Given the description of an element on the screen output the (x, y) to click on. 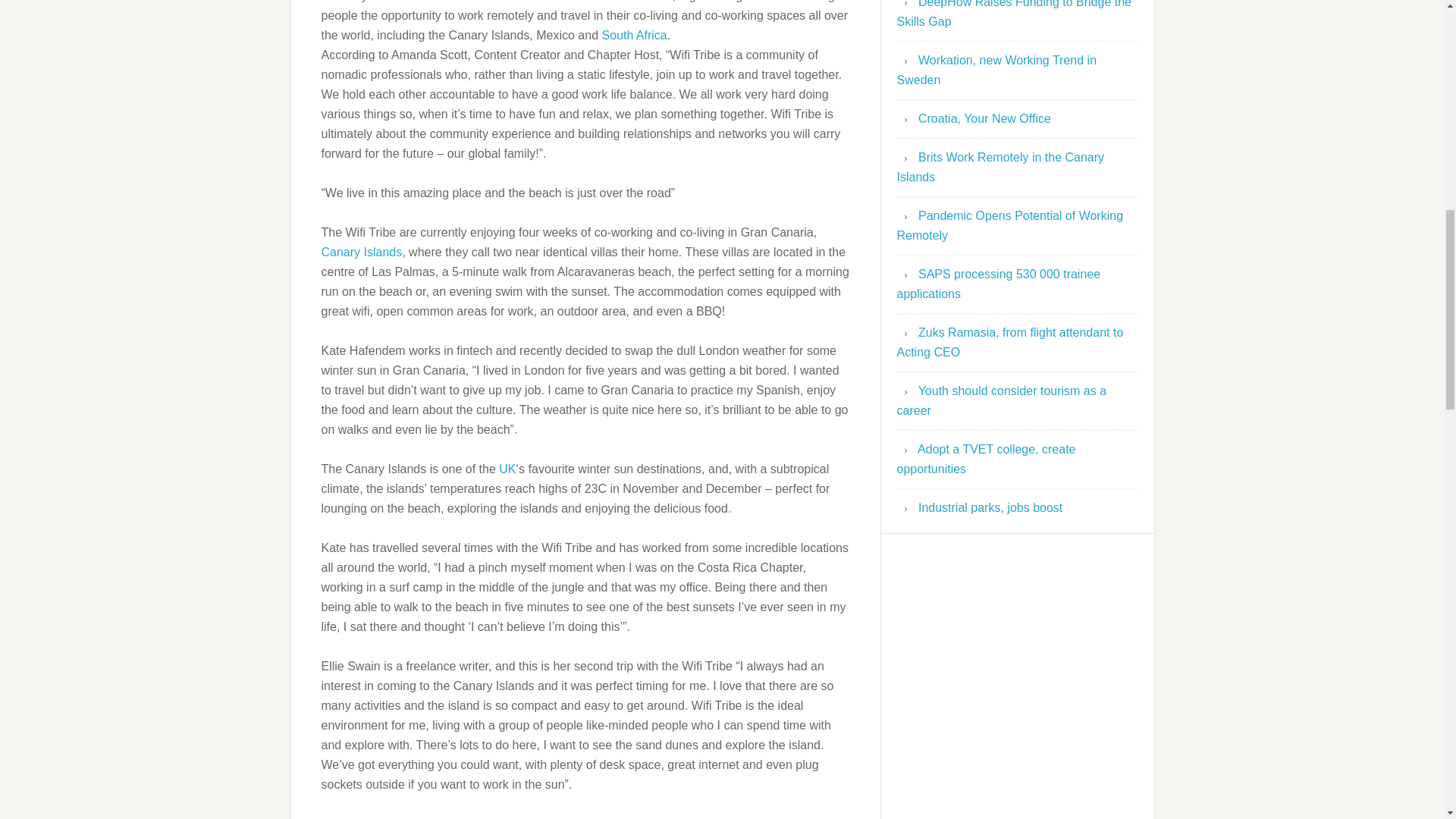
Canary Islands (362, 251)
UK (507, 468)
South Africa (633, 34)
